Given the description of an element on the screen output the (x, y) to click on. 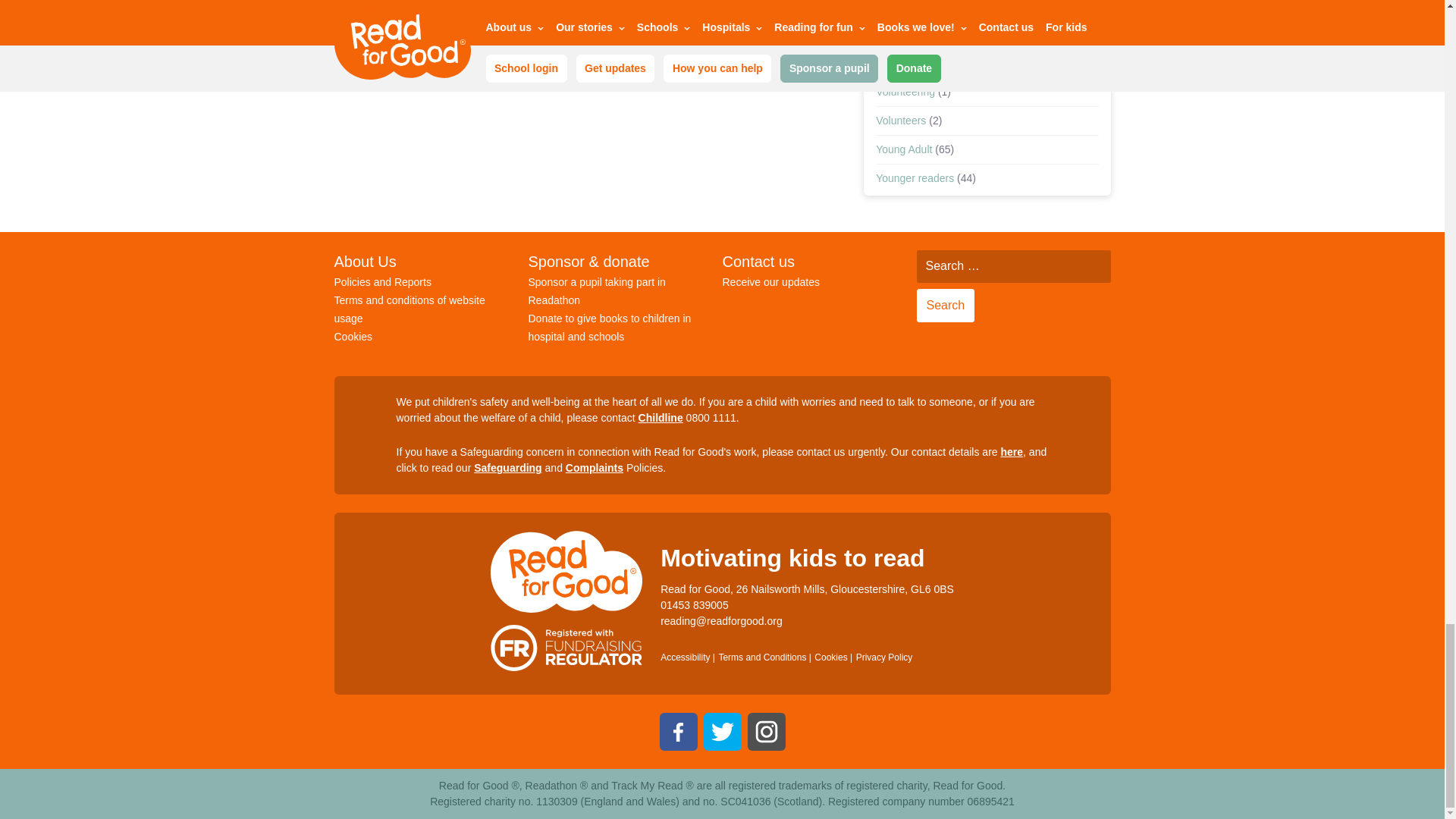
Search (944, 305)
Search (944, 305)
